Given the description of an element on the screen output the (x, y) to click on. 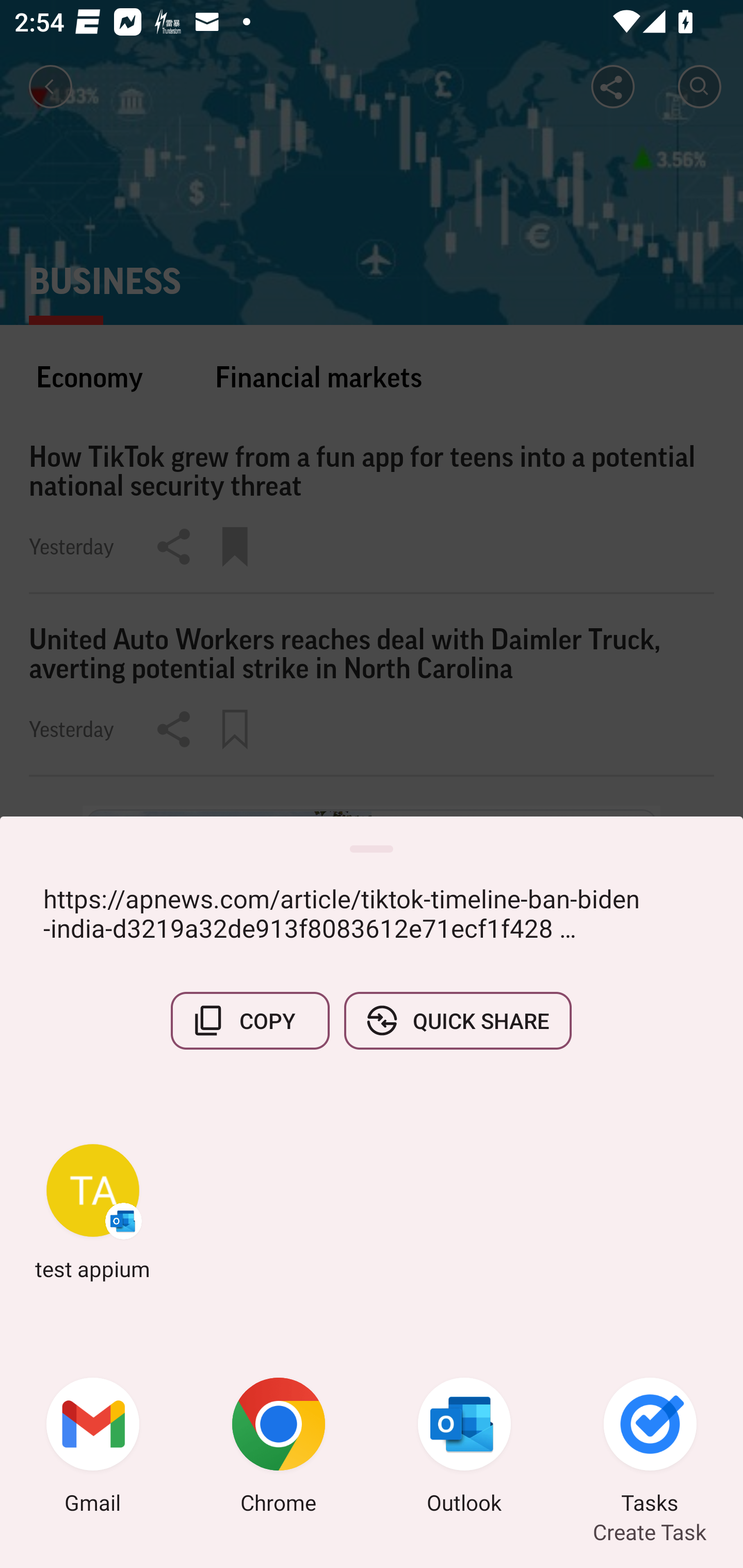
COPY (249, 1020)
QUICK SHARE (457, 1020)
test appium  Outlook test appium (92, 1212)
Gmail (92, 1448)
Chrome (278, 1448)
Outlook (464, 1448)
Tasks Create Task (650, 1448)
